Given the description of an element on the screen output the (x, y) to click on. 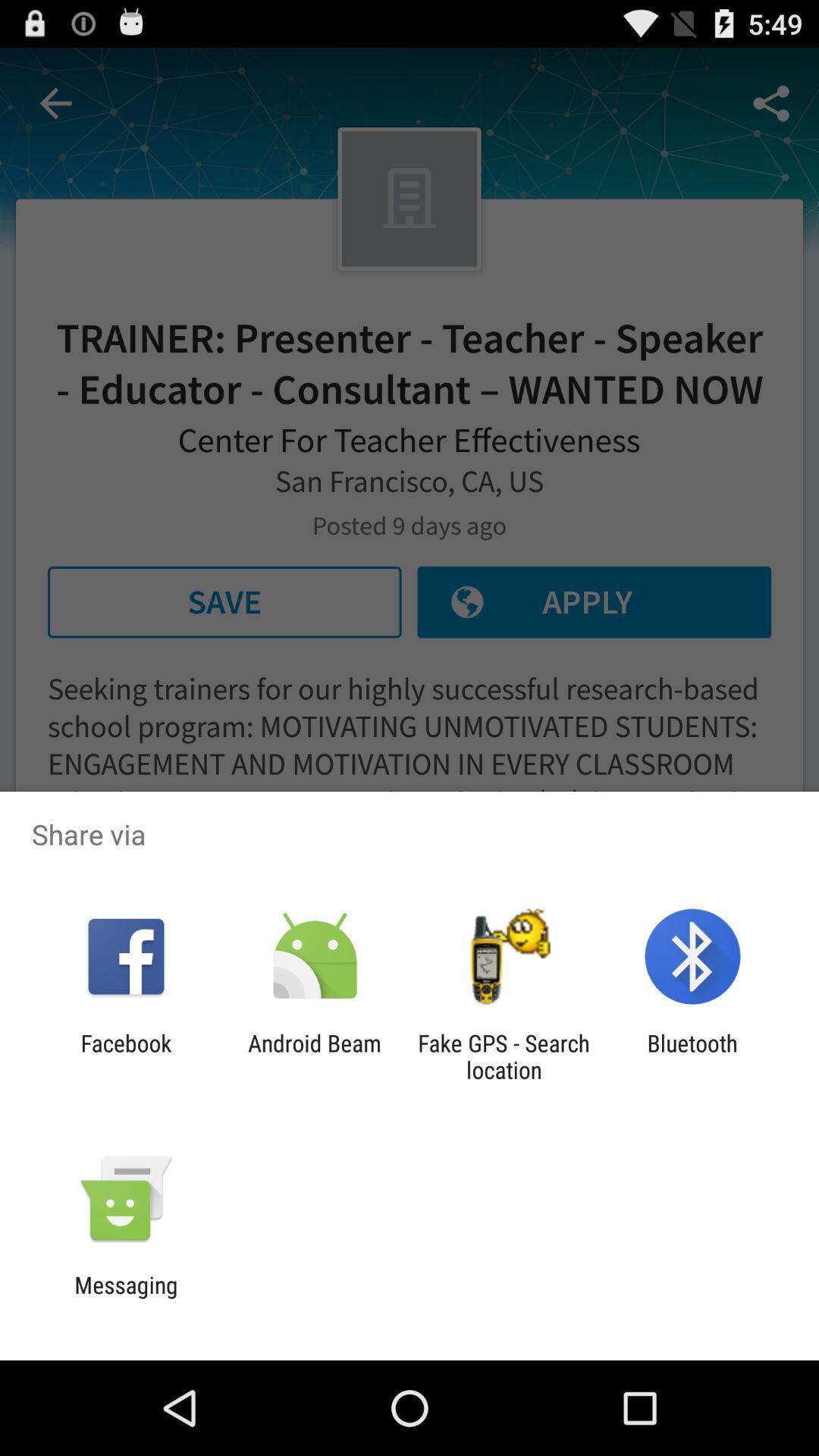
launch item to the right of fake gps search icon (692, 1056)
